Given the description of an element on the screen output the (x, y) to click on. 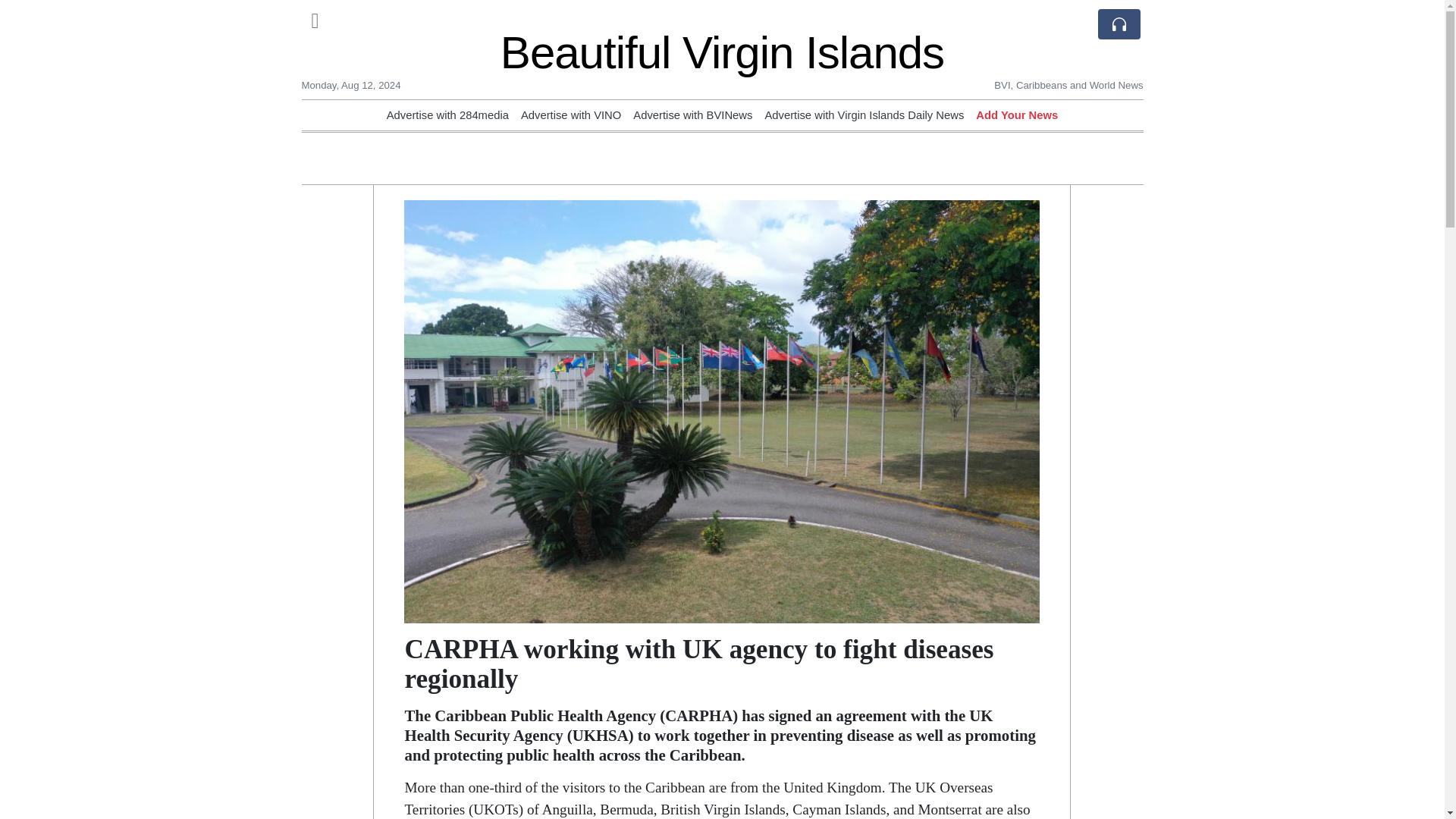
Beautiful Virgin Islands (721, 52)
Advertise with BVINews (692, 114)
Advertise with VINO (571, 114)
Advertise with 284media (447, 114)
Add Your News (1016, 114)
Advertise with Virgin Islands Daily News (863, 114)
